Given the description of an element on the screen output the (x, y) to click on. 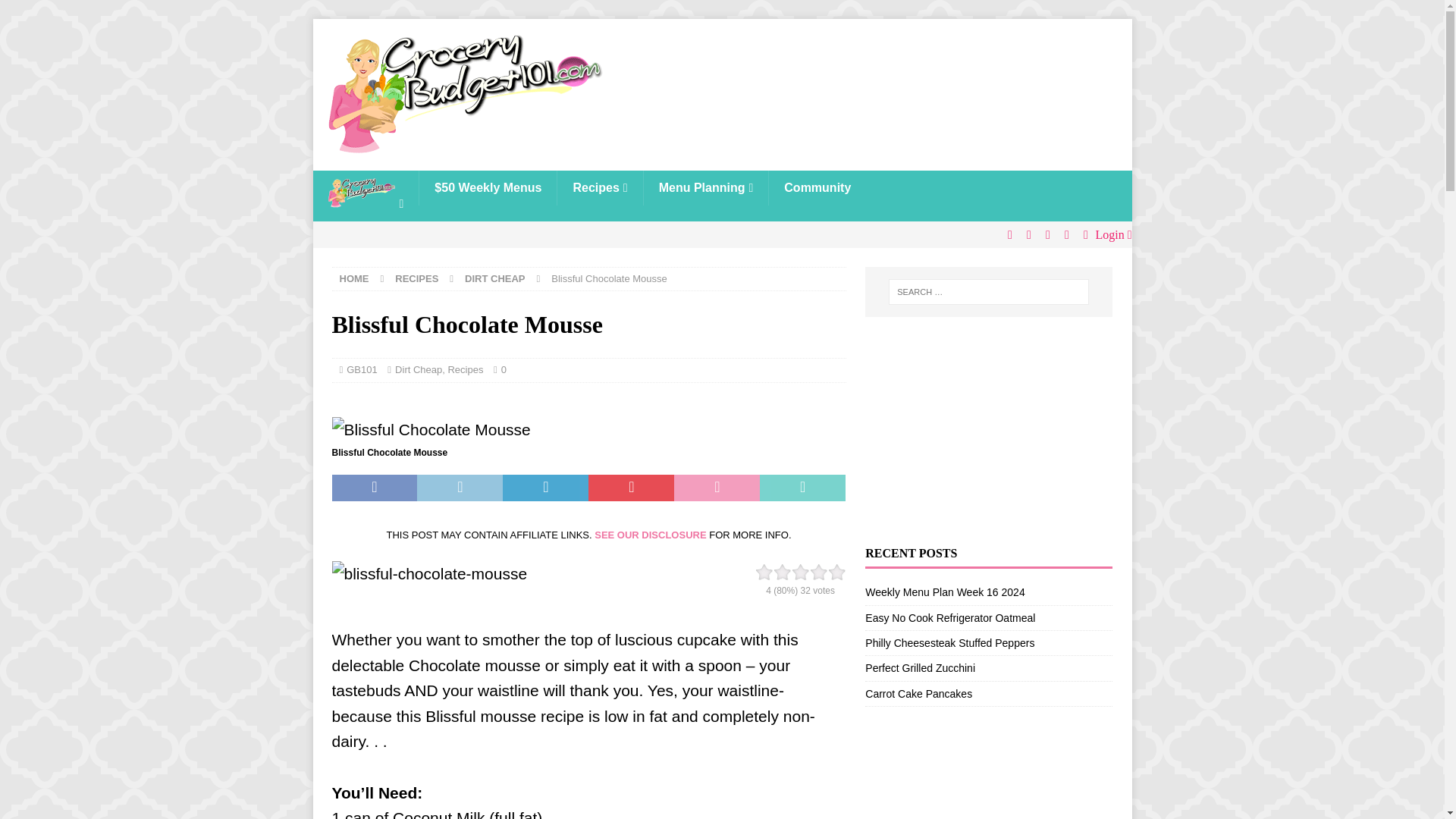
DIRT CHEAP (494, 278)
Recipes (599, 187)
Community (817, 187)
RECIPES (416, 278)
Recipes (464, 369)
Blissful Chocolate Mousse (539, 574)
SEE OUR DISCLOSURE (650, 534)
HOME (354, 278)
Dirt Cheap (418, 369)
Blissful Chocolate Mousse (431, 429)
GB101 (361, 369)
Menu Planning (705, 187)
